Given the description of an element on the screen output the (x, y) to click on. 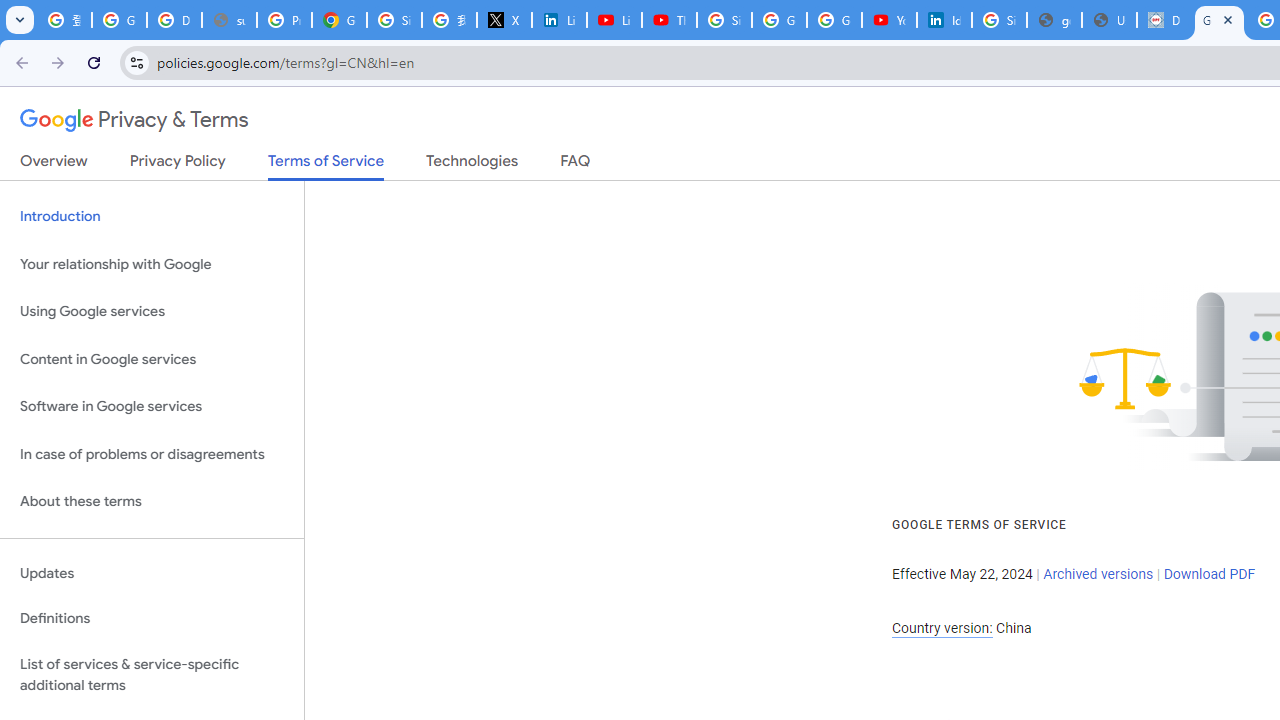
X (504, 20)
Download PDF (1209, 574)
Archived versions (1098, 574)
